Given the description of an element on the screen output the (x, y) to click on. 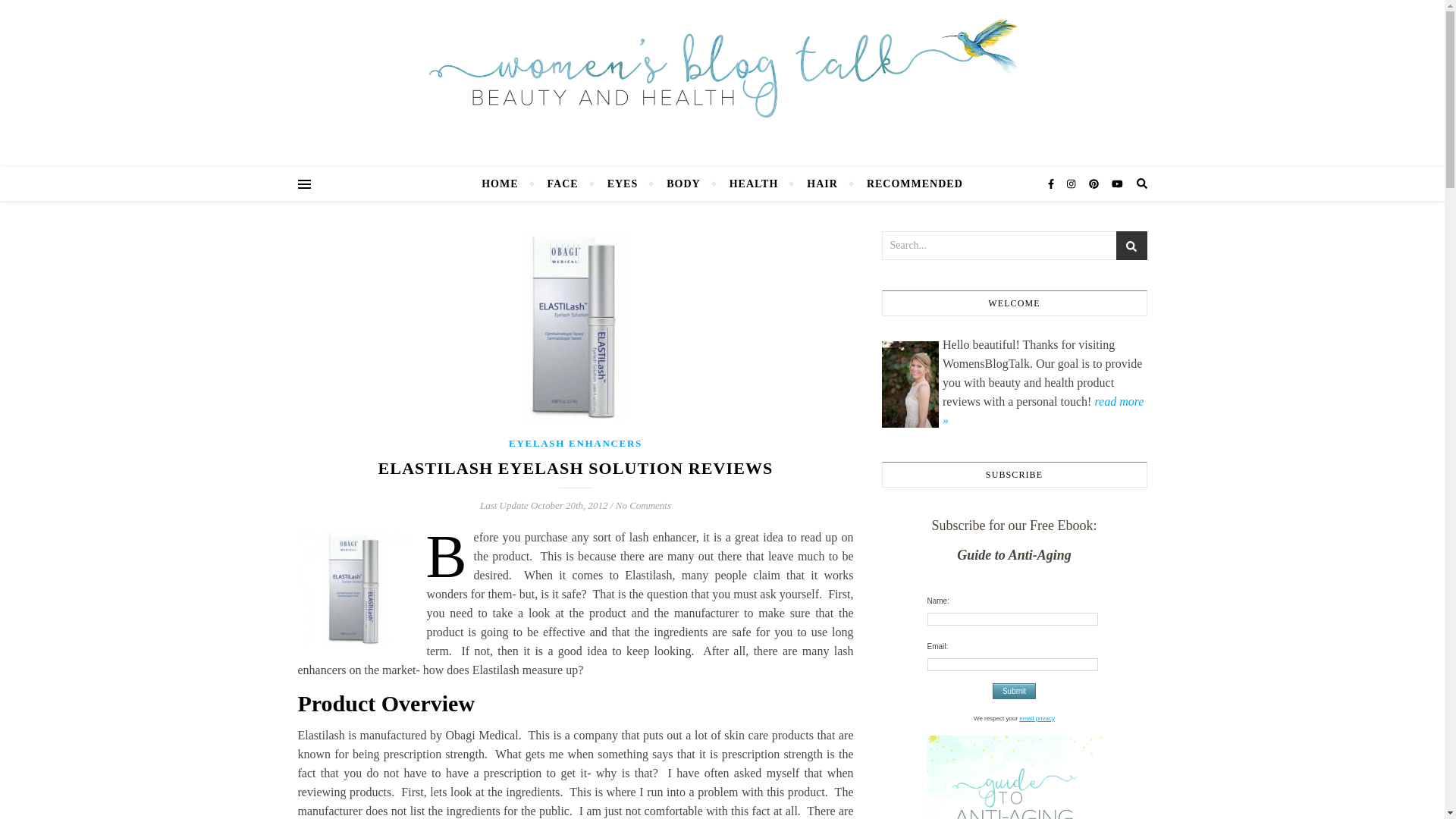
FACE (562, 183)
BODY (683, 183)
HOME (506, 183)
EYES (622, 183)
HEALTH (754, 183)
Women's Blog Talk (721, 68)
Submit (1013, 691)
